Given the description of an element on the screen output the (x, y) to click on. 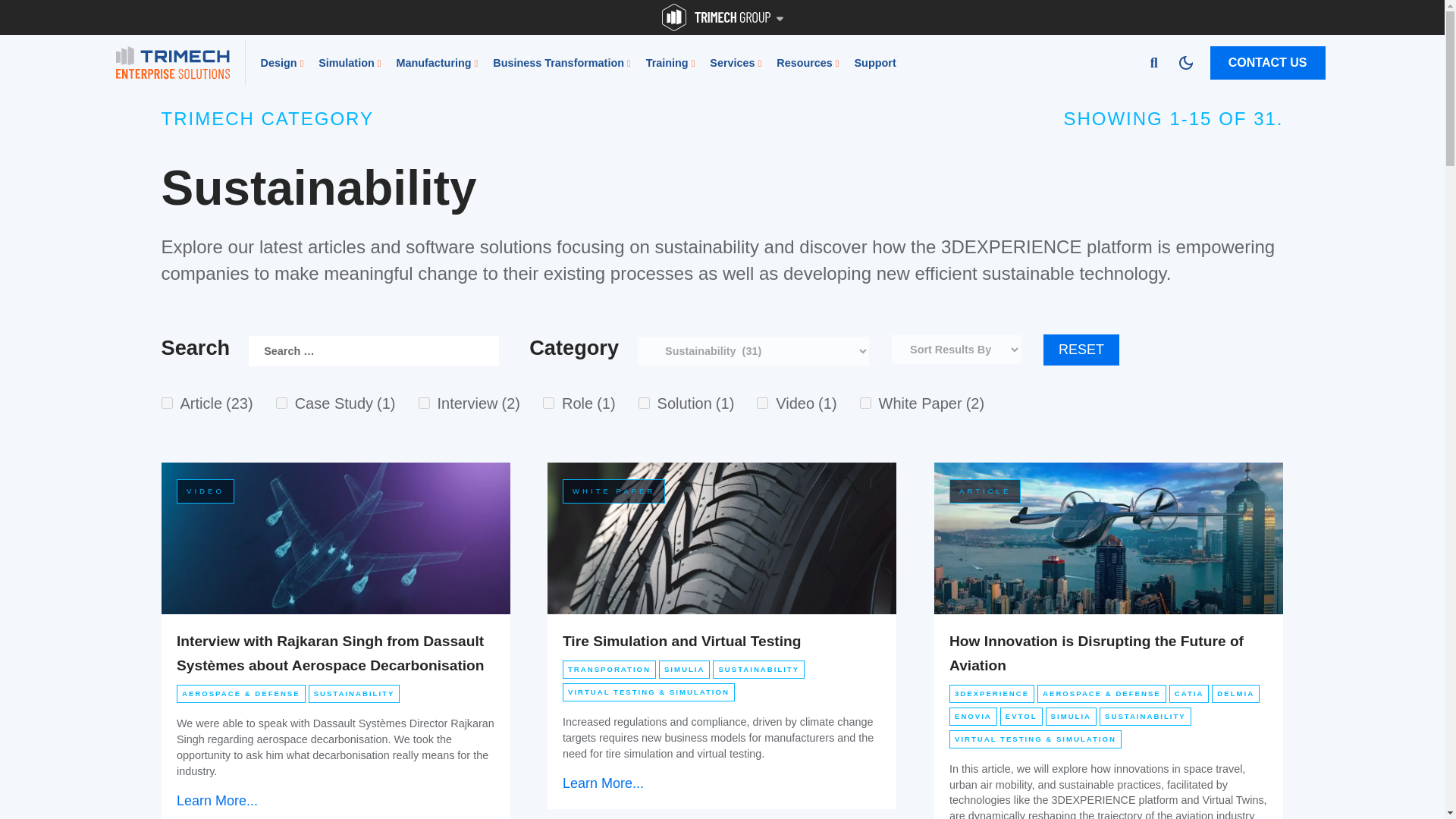
article (165, 402)
Category (753, 350)
Design (289, 62)
interview (424, 402)
Reset (1081, 350)
case-study (281, 402)
Simulation (357, 62)
role (548, 402)
Reset (1081, 350)
solution (644, 402)
